Given the description of an element on the screen output the (x, y) to click on. 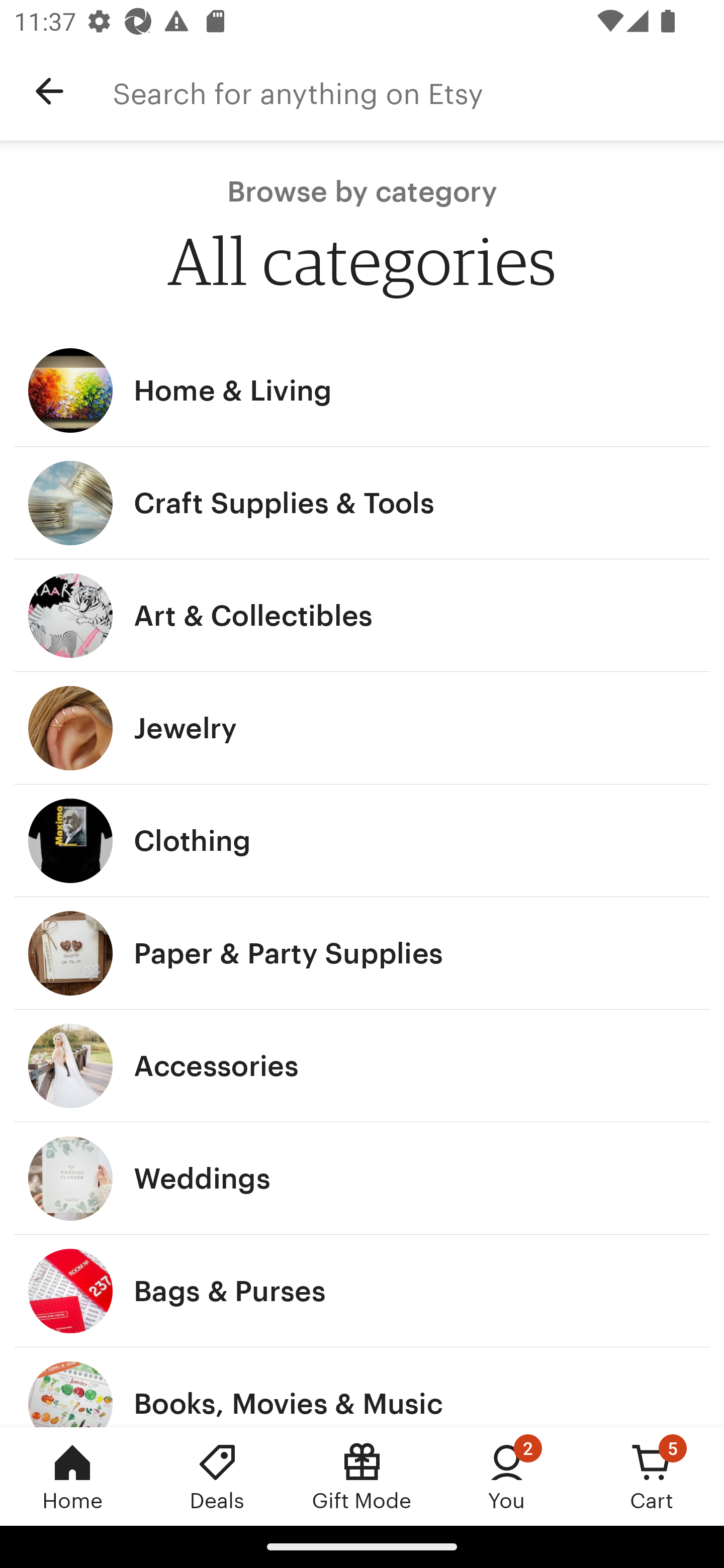
Navigate up (49, 91)
Search for anything on Etsy (418, 91)
Home & Living (361, 389)
Craft Supplies & Tools (361, 502)
Art & Collectibles (361, 615)
Jewelry (361, 728)
Clothing (361, 840)
Paper & Party Supplies (361, 952)
Accessories (361, 1065)
Weddings (361, 1178)
Bags & Purses (361, 1290)
Books, Movies & Music (361, 1386)
Deals (216, 1475)
Gift Mode (361, 1475)
You, 2 new notifications You (506, 1475)
Cart, 5 new notifications Cart (651, 1475)
